Given the description of an element on the screen output the (x, y) to click on. 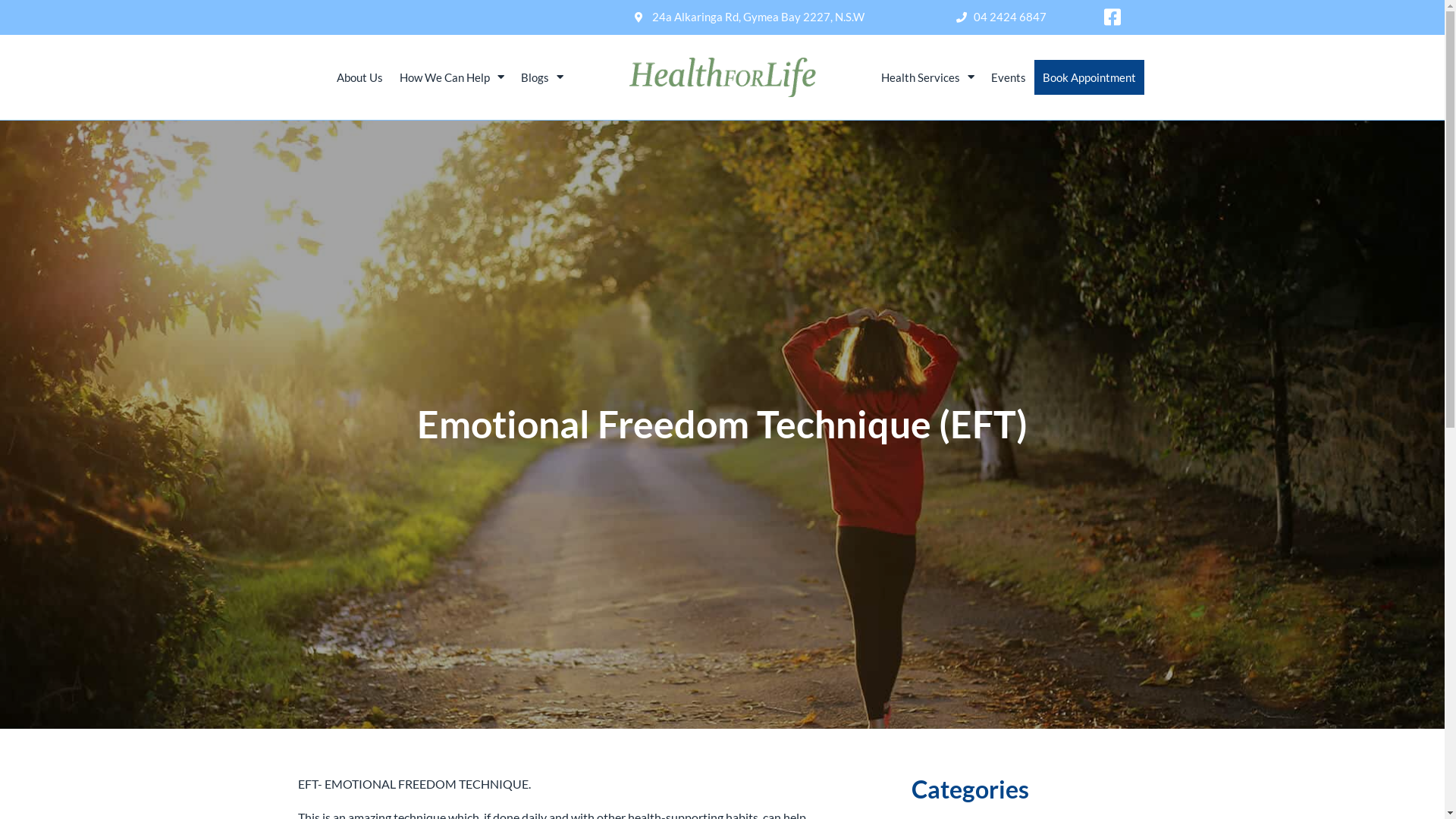
Book Appointment Element type: text (1089, 76)
04 2424 6847 Element type: text (1009, 17)
Blogs Element type: text (541, 76)
About Us Element type: text (359, 76)
Events Element type: text (1008, 76)
Health Services Element type: text (927, 76)
How We Can Help Element type: text (451, 76)
